Given the description of an element on the screen output the (x, y) to click on. 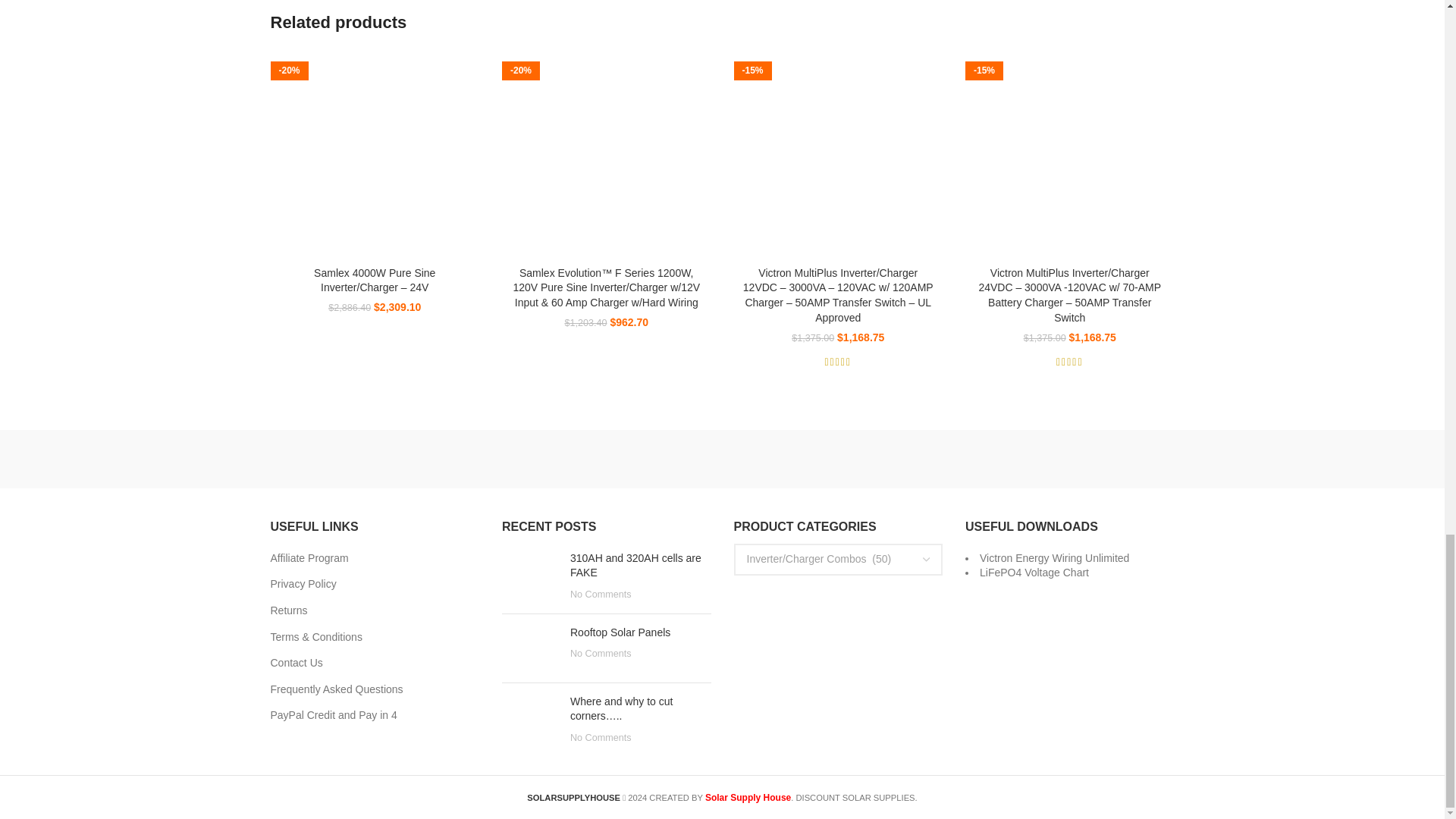
Xantrex (334, 459)
Xantrex (333, 458)
Victron Energy (463, 459)
Victron Energy (463, 458)
